Given the description of an element on the screen output the (x, y) to click on. 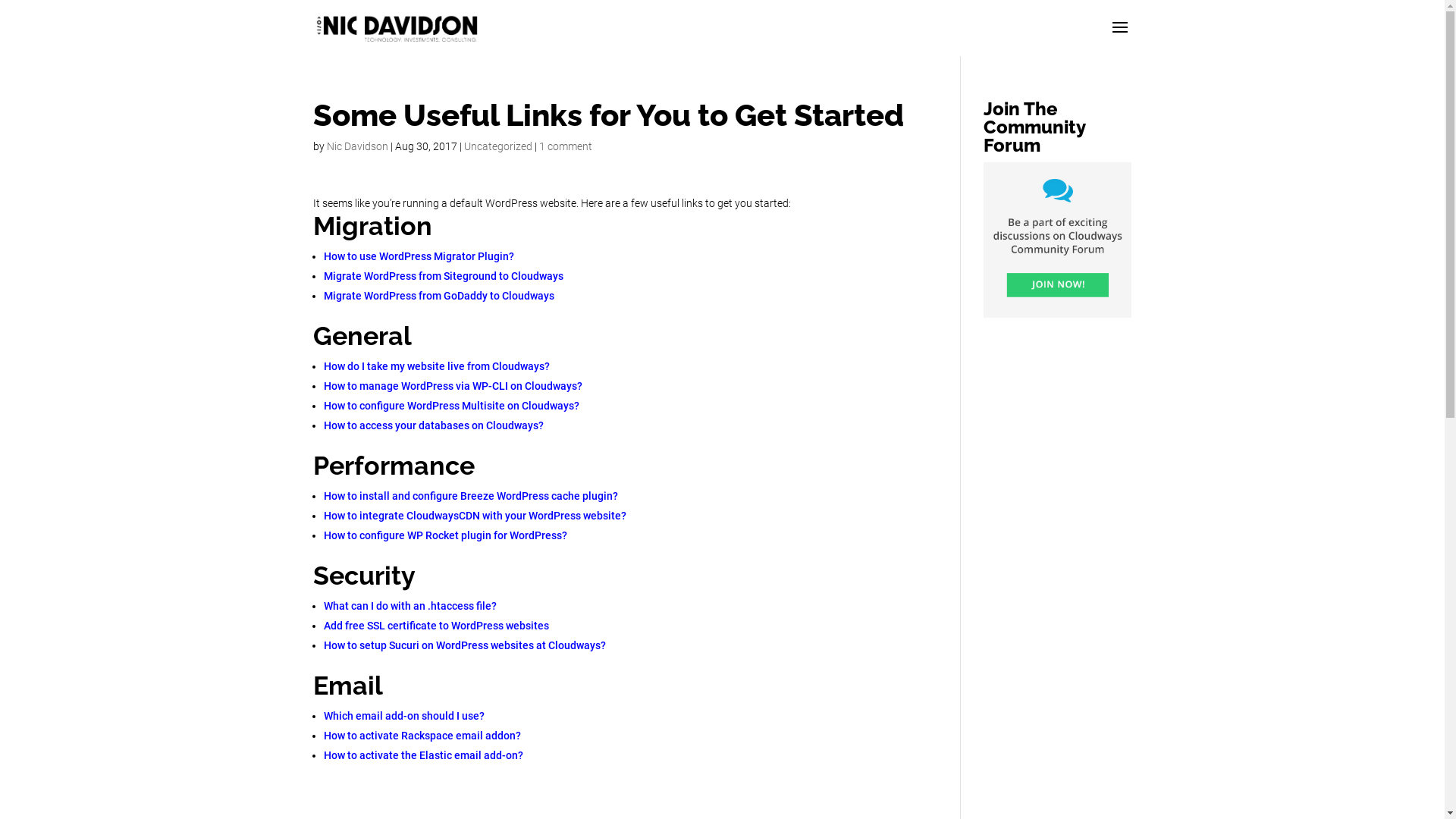
Add free SSL certificate to WordPress websites Element type: text (435, 625)
How to manage WordPress via WP-CLI on Cloudways? Element type: text (452, 385)
How to integrate CloudwaysCDN with your WordPress website? Element type: text (474, 515)
Uncategorized Element type: text (498, 146)
How to configure WordPress Multisite on Cloudways? Element type: text (450, 405)
Migrate WordPress from GoDaddy to Cloudways Element type: text (438, 295)
How do I take my website live from Cloudways? Element type: text (436, 366)
Which email add-on should I use? Element type: text (403, 715)
How to install and configure Breeze WordPress cache plugin? Element type: text (470, 495)
What can I do with an .htaccess file? Element type: text (409, 605)
Migrate WordPress from Siteground to Cloudways Element type: text (442, 275)
How to activate Rackspace email addon? Element type: text (421, 735)
How to configure WP Rocket plugin for WordPress? Element type: text (444, 535)
How to activate the Elastic email add-on? Element type: text (422, 755)
How to use WordPress Migrator Plugin? Element type: text (418, 256)
Nic Davidson Element type: text (356, 146)
How to setup Sucuri on WordPress websites at Cloudways? Element type: text (464, 645)
How to access your databases on Cloudways? Element type: text (432, 425)
1 comment Element type: text (564, 146)
